Given the description of an element on the screen output the (x, y) to click on. 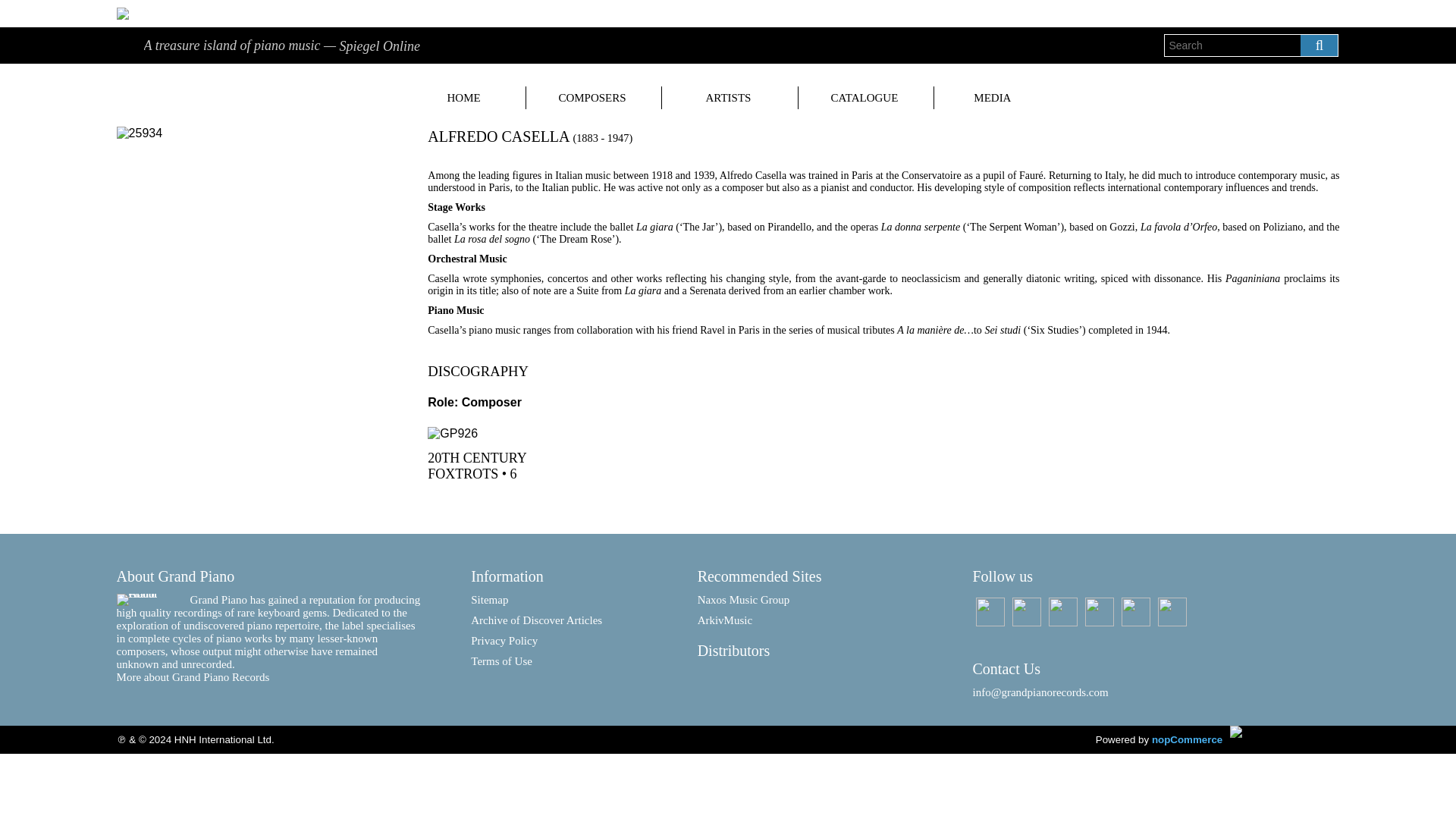
nopCommerce (1187, 739)
Archive of Discover Articles (558, 624)
Naxos Music Group (810, 603)
About Grand Piano (153, 599)
Terms of Use (558, 665)
Privacy Policy (558, 644)
Grand Piano Records (1284, 731)
HOME (464, 97)
Sitemap (558, 603)
SouthernEurope (500, 433)
